Given the description of an element on the screen output the (x, y) to click on. 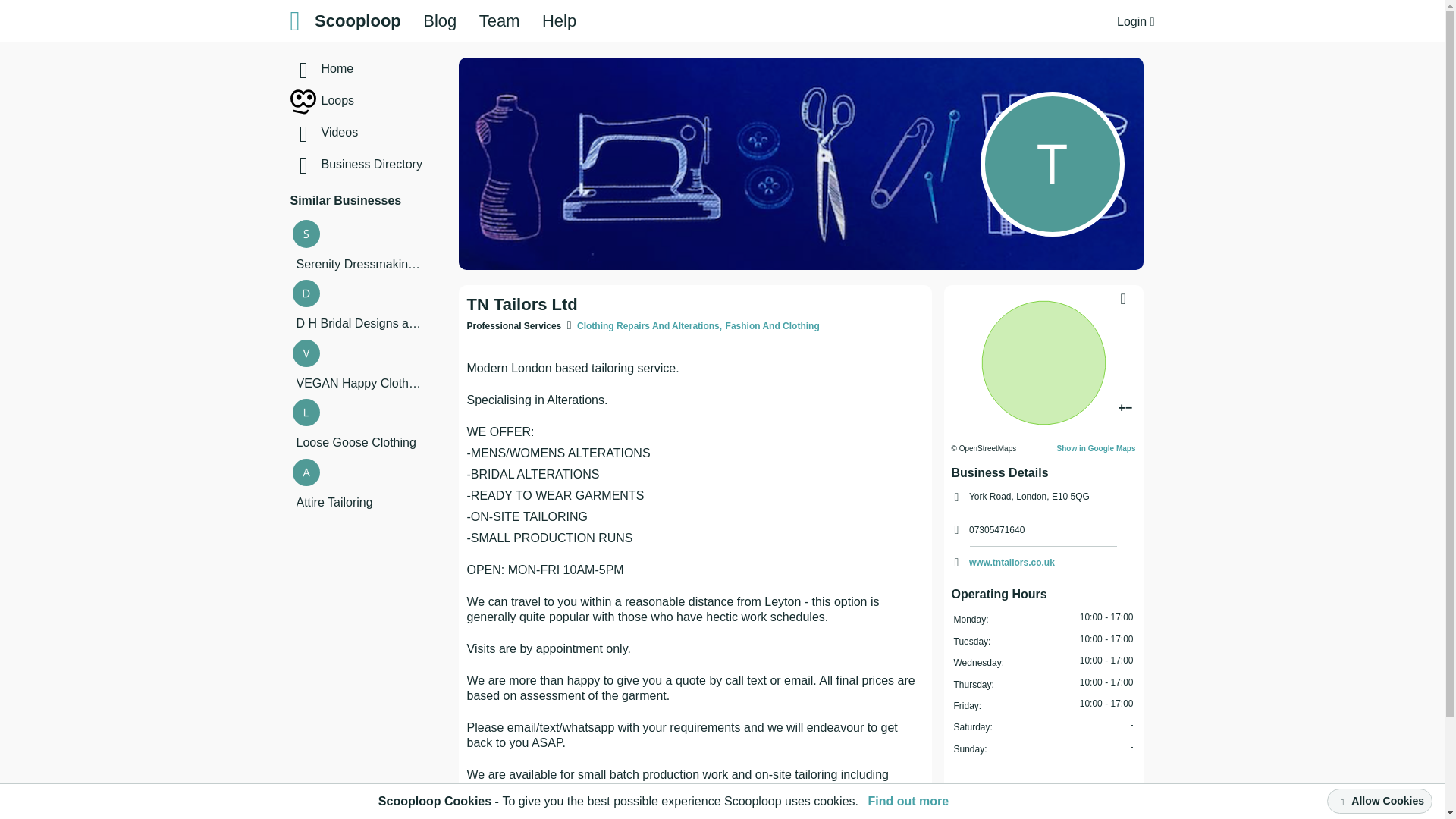
Login (1135, 21)
Business Directory (394, 164)
Fashion And Clothing (772, 326)
Share on Twitter (1020, 787)
Loose Goose Clothing (357, 442)
Clothing Repairs And Alterations, (649, 326)
Blog (440, 21)
VEGAN Happy Clothing (357, 383)
Home (394, 69)
D H Bridal Designs and Tailoring Services (357, 323)
Contact (1030, 816)
Show in Google Maps (1096, 448)
www.tntailors.co.uk (1011, 562)
Videos (394, 132)
Help (558, 21)
